Given the description of an element on the screen output the (x, y) to click on. 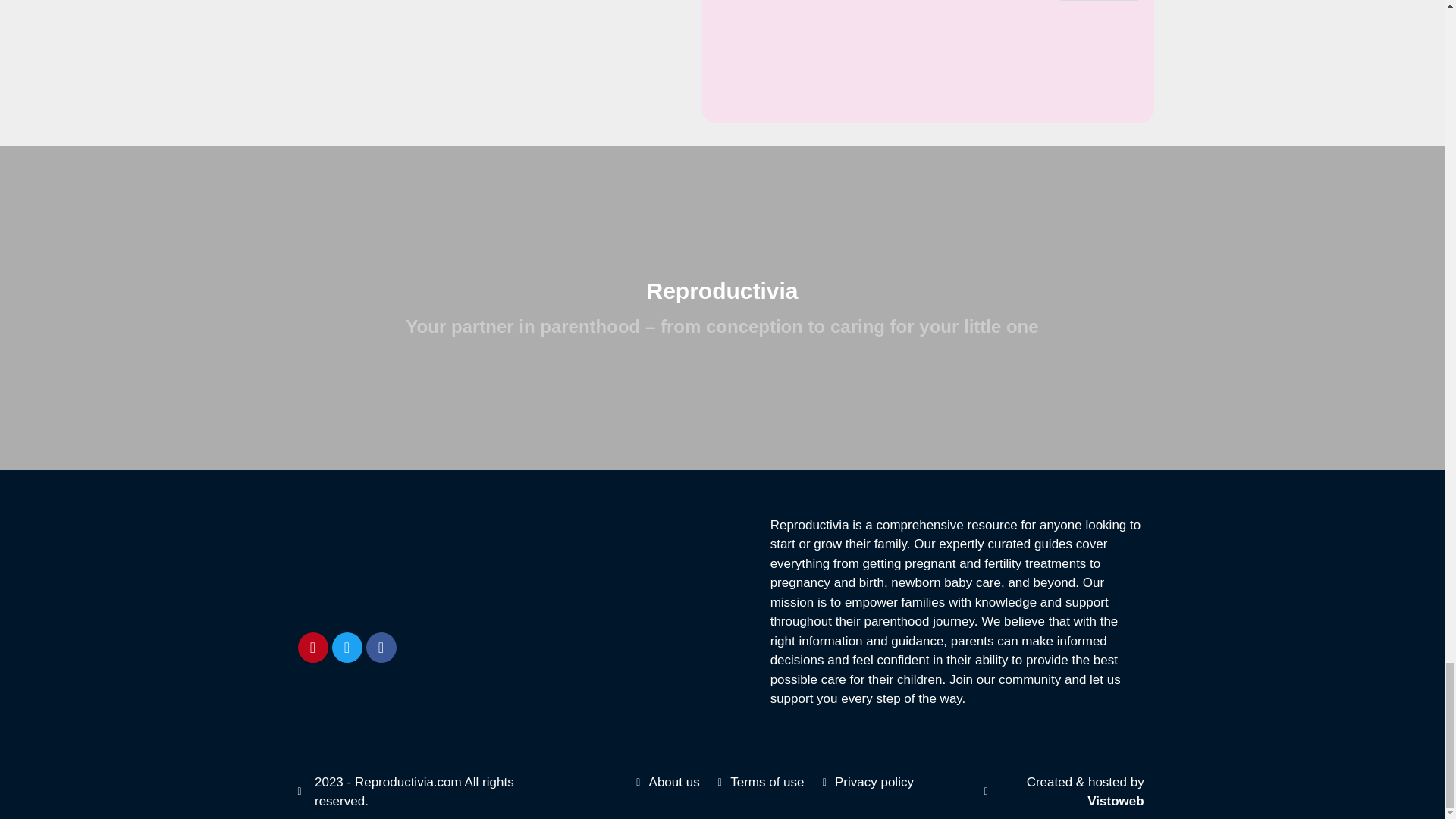
Terms of use (759, 782)
About us (665, 782)
Privacy policy (864, 782)
